Given the description of an element on the screen output the (x, y) to click on. 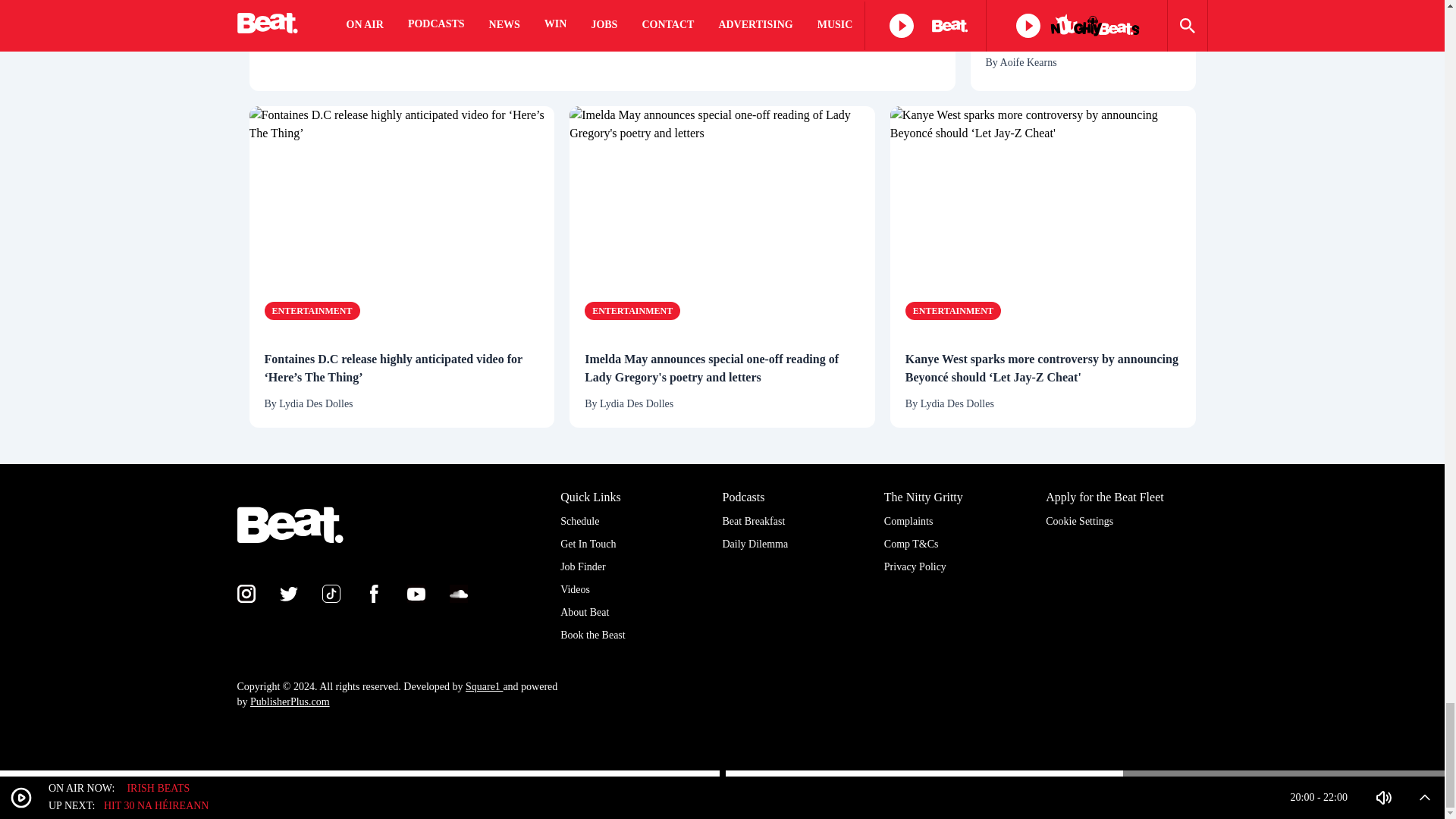
Disney reveals live-action Lilo and Stitch movie teaser (425, 45)
Entertainment (311, 311)
Katie Price arrested at Heathrow Airport (1082, 27)
